Given the description of an element on the screen output the (x, y) to click on. 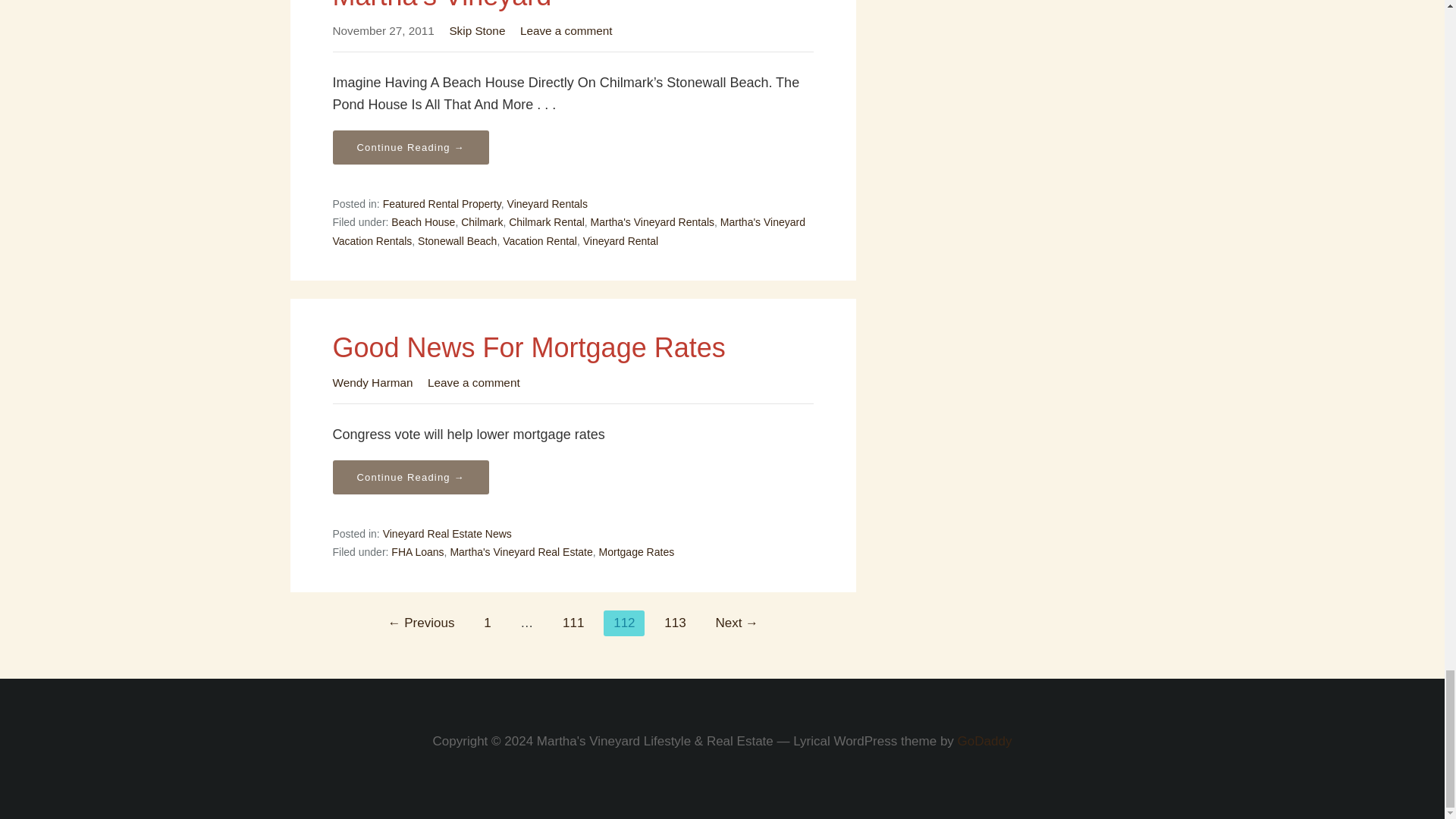
Posts by Wendy Harman (371, 382)
Posts by Skip Stone (476, 30)
